Given the description of an element on the screen output the (x, y) to click on. 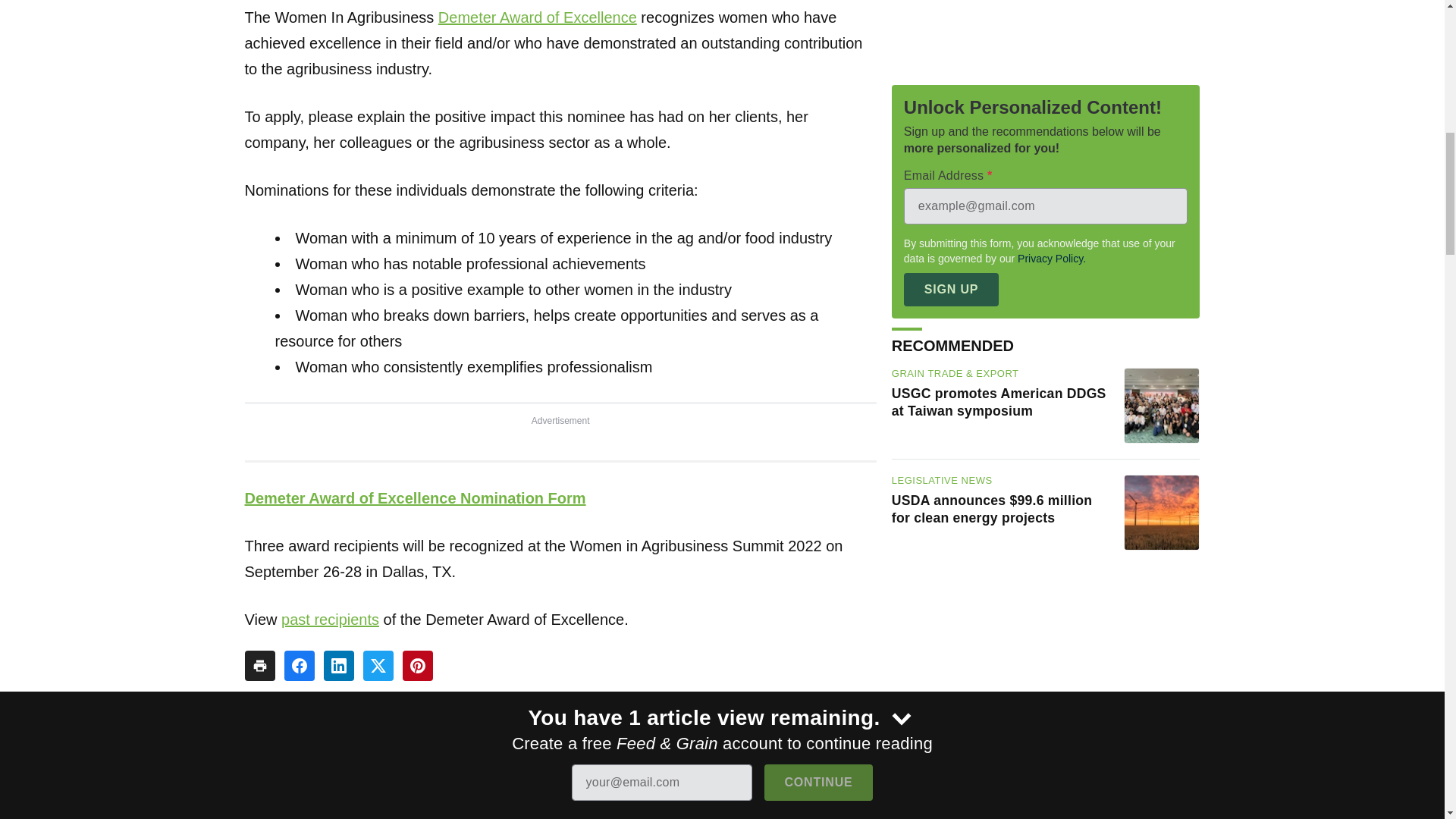
Share To print (259, 665)
Share To pinterest (416, 665)
Share To facebook (298, 665)
Share To linkedin (338, 665)
Share To twitter (377, 665)
